Given the description of an element on the screen output the (x, y) to click on. 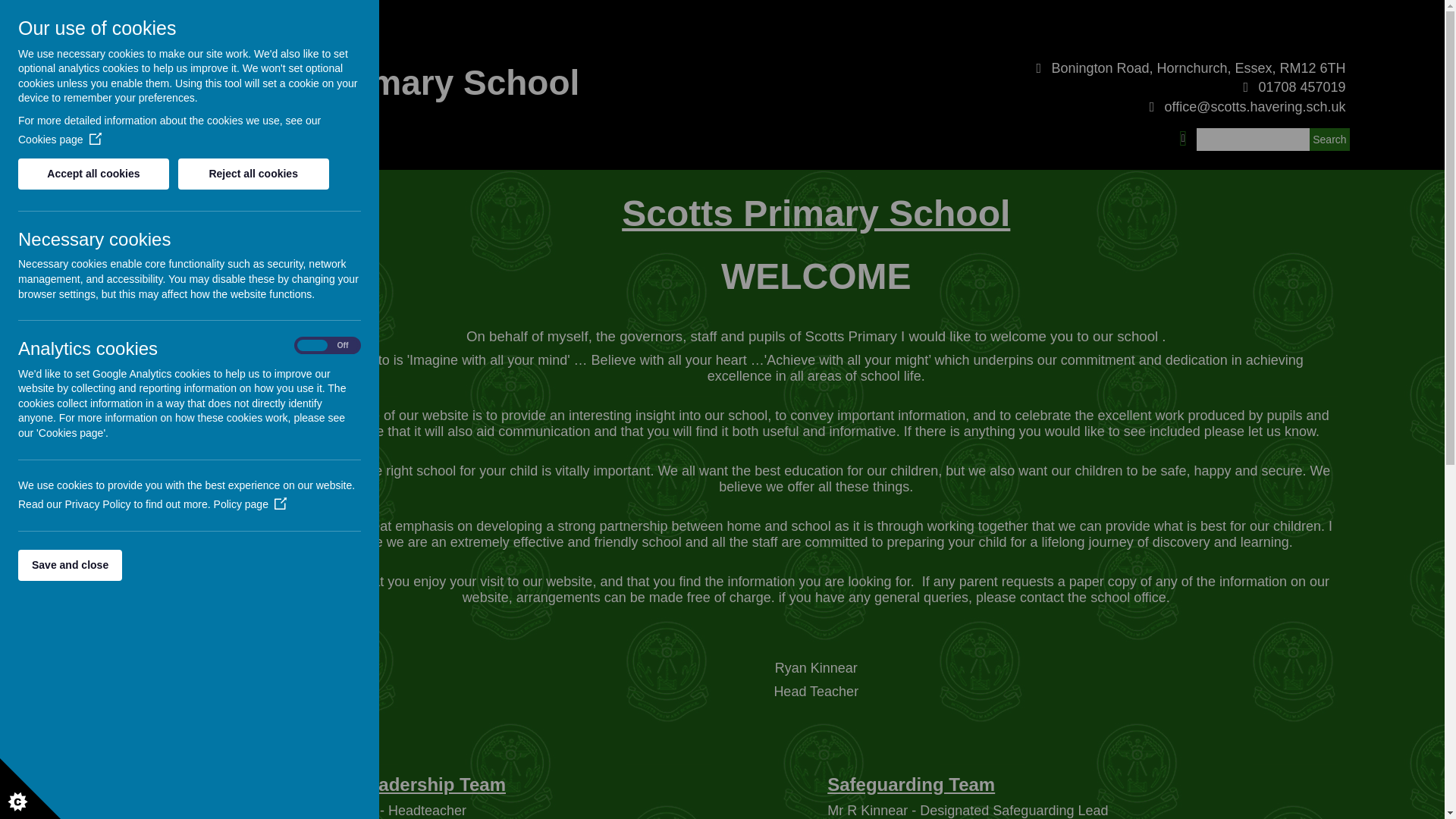
Twitter (1182, 137)
Cookie Control Icon (30, 788)
on (327, 345)
Search (1328, 138)
Search (1328, 138)
